Given the description of an element on the screen output the (x, y) to click on. 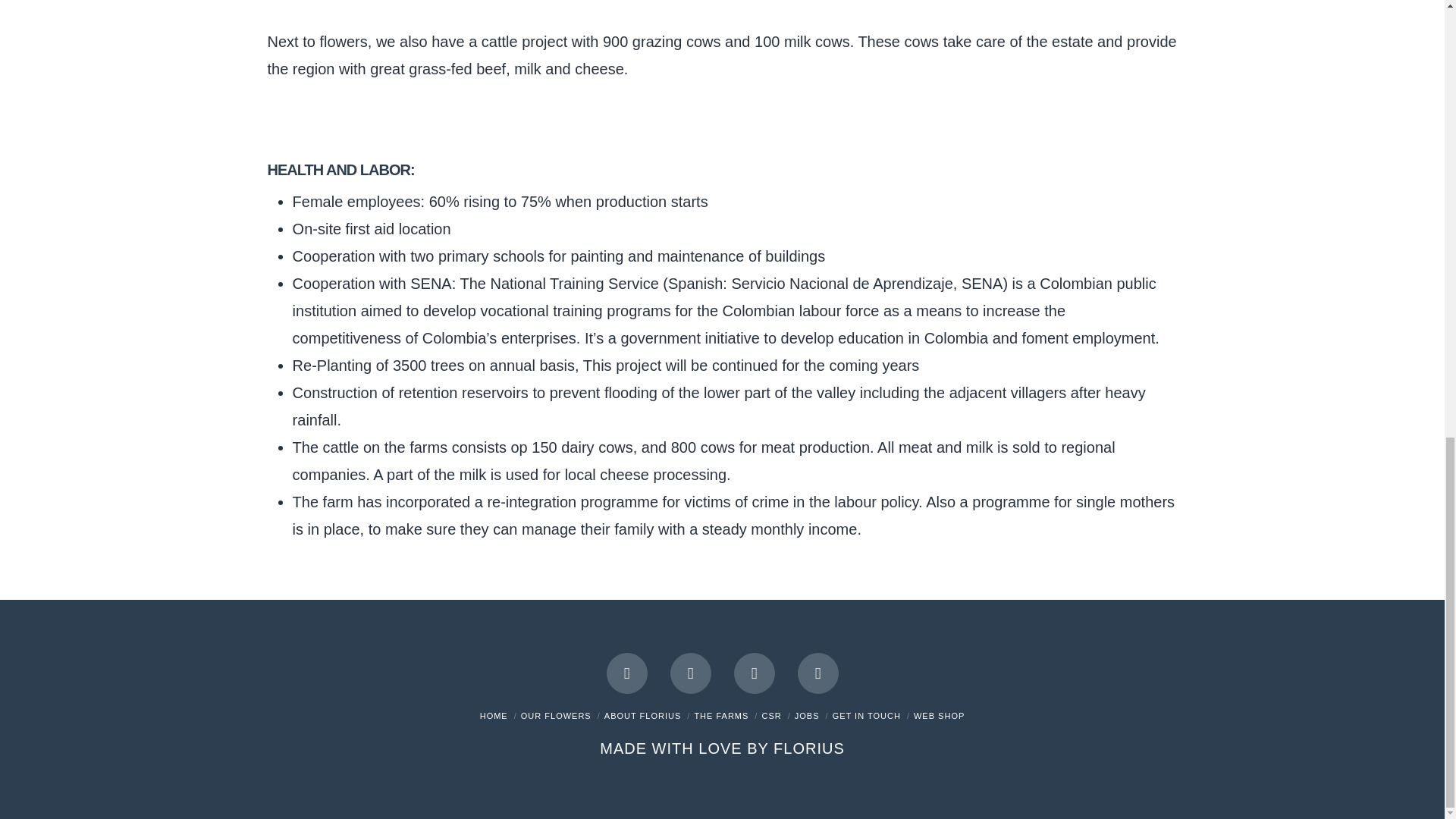
GET IN TOUCH (866, 715)
Pinterest (817, 672)
CSR (770, 715)
WEB SHOP (938, 715)
JOBS (806, 715)
THE FARMS (721, 715)
OUR FLOWERS (556, 715)
HOME (494, 715)
YouTube (690, 672)
ABOUT FLORIUS (642, 715)
Instagram (753, 672)
Facebook (627, 672)
